Given the description of an element on the screen output the (x, y) to click on. 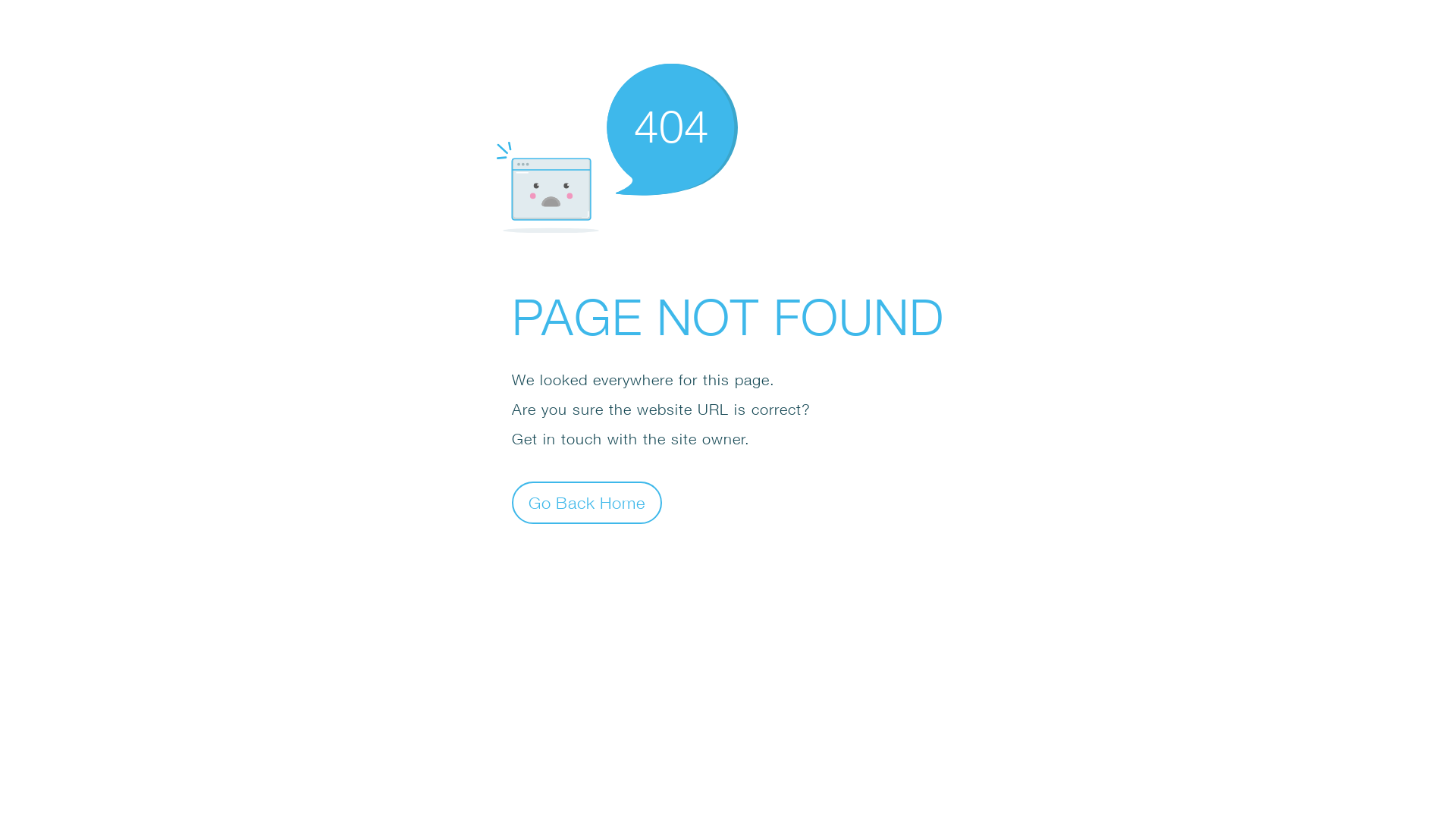
Go Back Home Element type: text (586, 502)
